Given the description of an element on the screen output the (x, y) to click on. 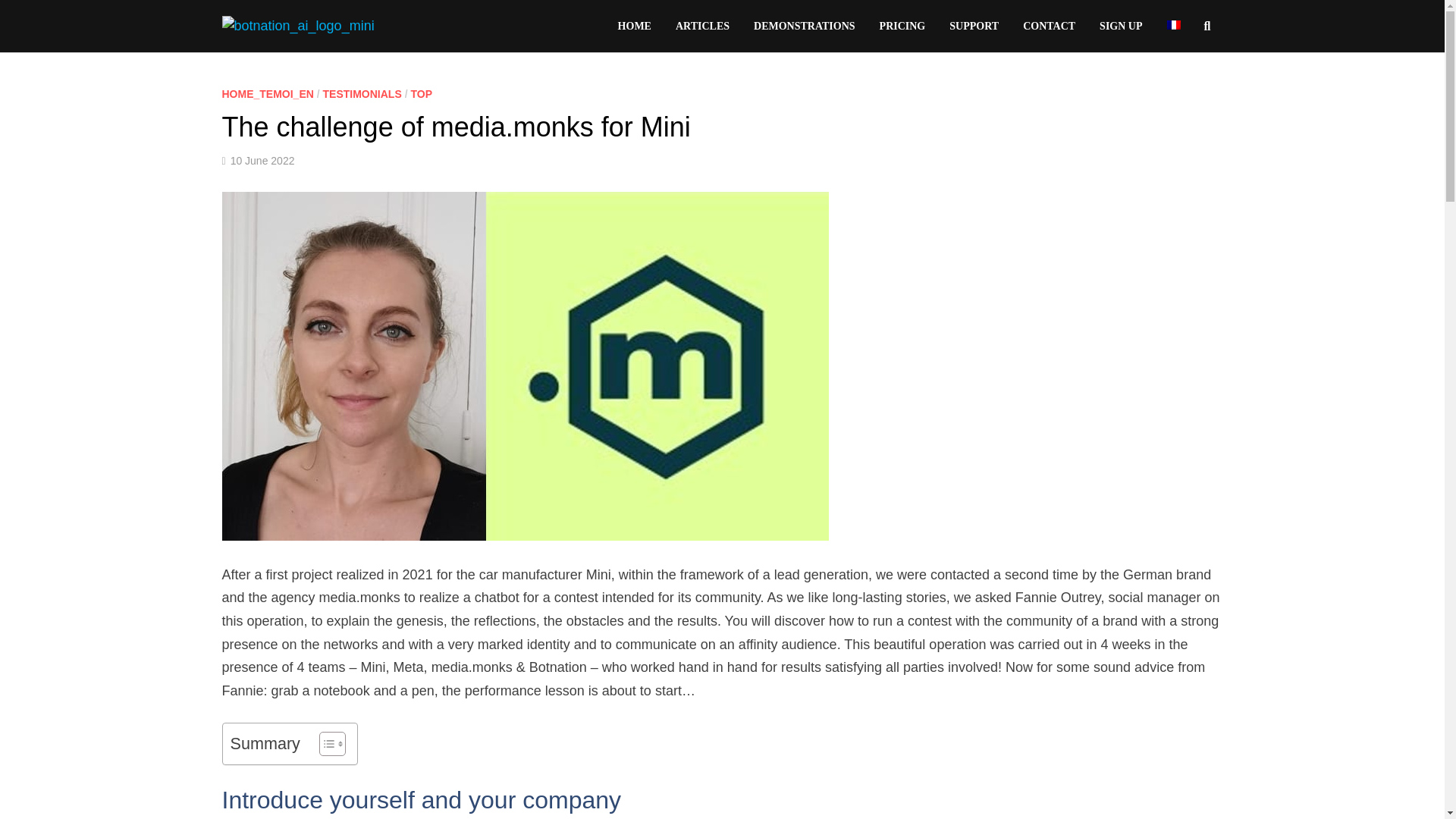
DEMONSTRATIONS (804, 25)
HOME (634, 25)
ARTICLES (702, 25)
PRICING (902, 25)
SIGN UP (1120, 25)
TESTIMONIALS (362, 93)
10 June 2022 (262, 160)
SUPPORT (973, 25)
CONTACT (1048, 25)
TOP (421, 93)
